Given the description of an element on the screen output the (x, y) to click on. 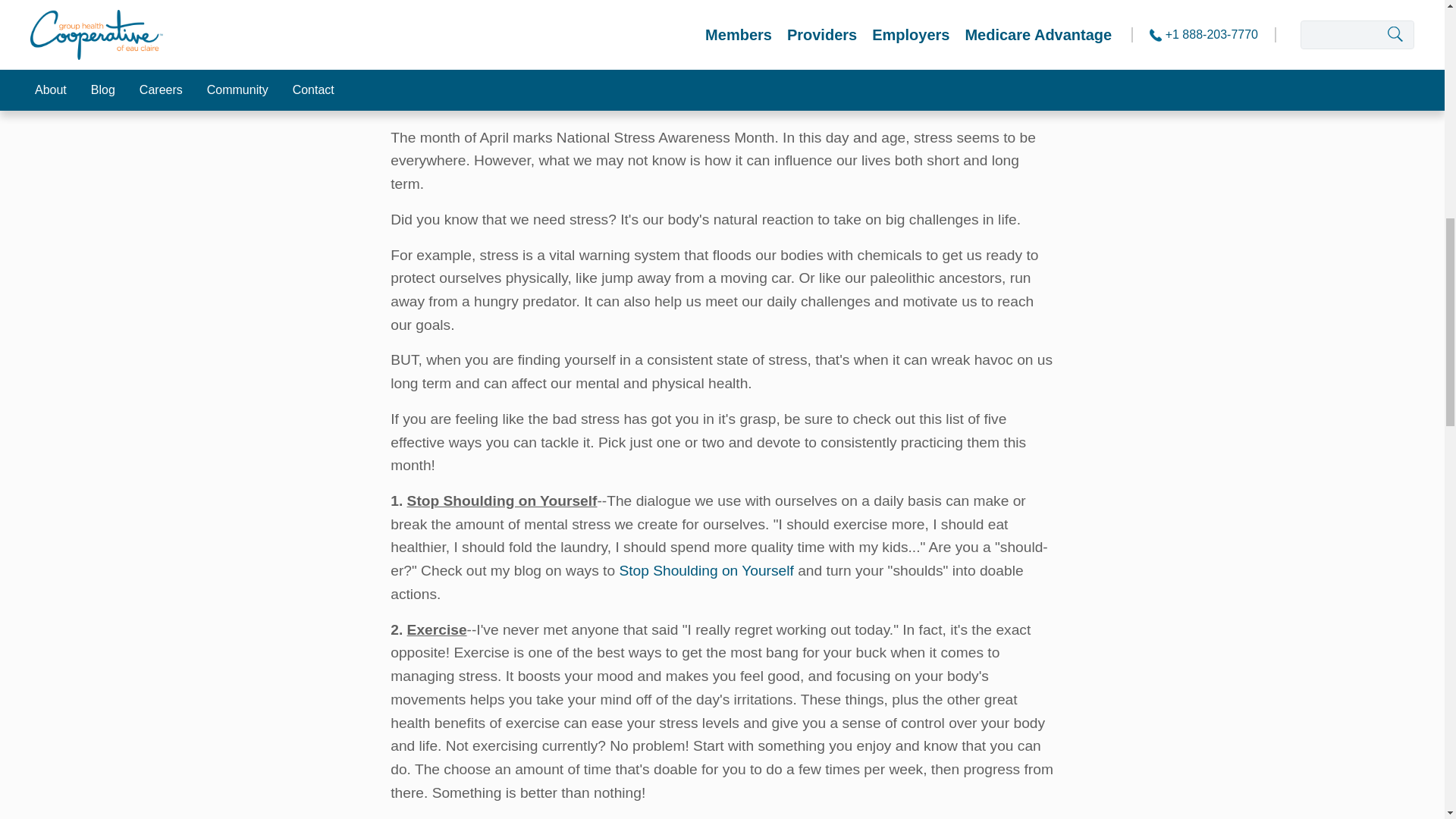
Stop Shoulding on Yourself (707, 570)
